Given the description of an element on the screen output the (x, y) to click on. 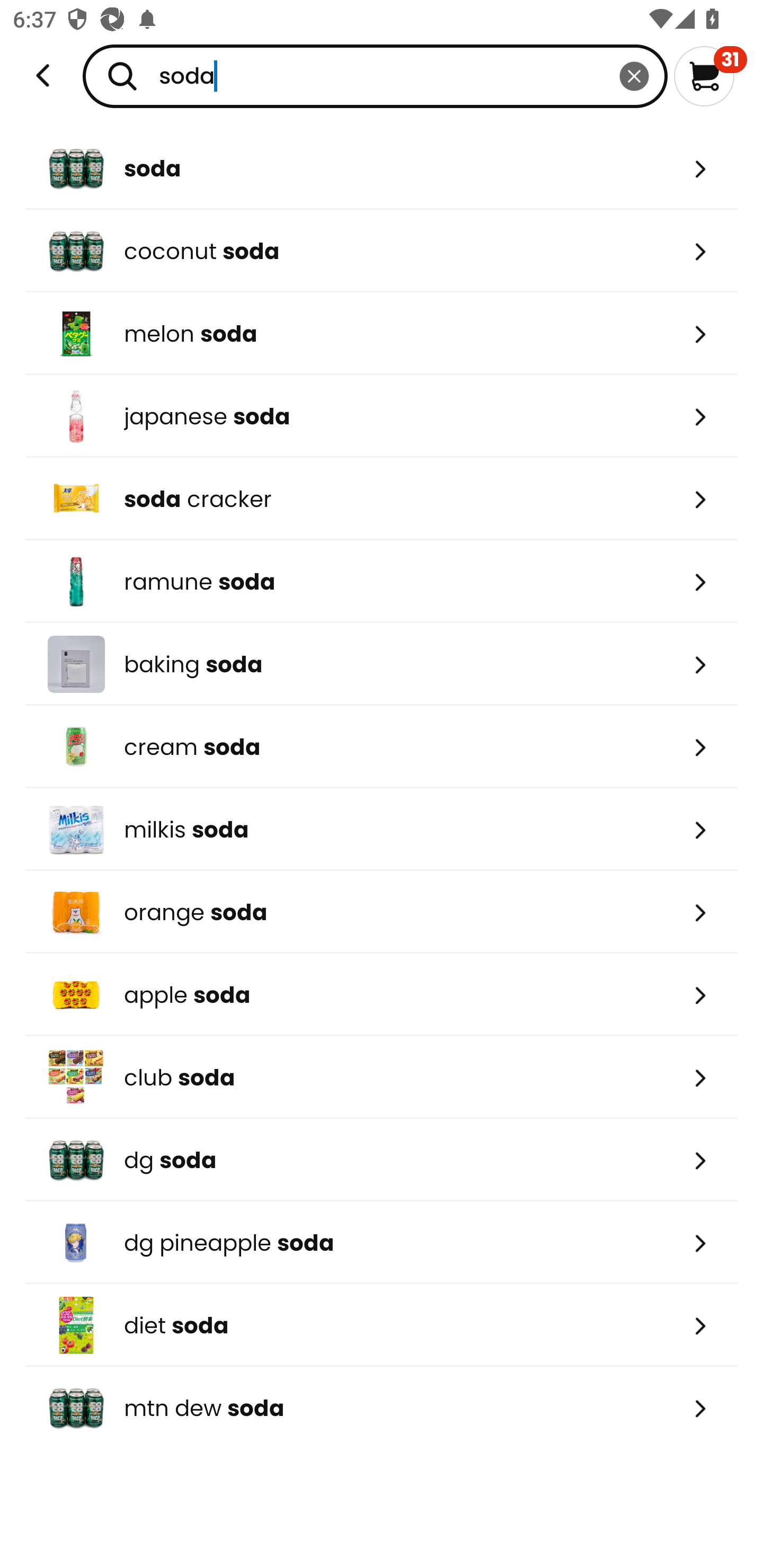
soda (374, 75)
31 (709, 75)
Weee! (42, 76)
soda (381, 168)
coconut soda (381, 250)
melon soda (381, 332)
japanese soda (381, 415)
soda cracker (381, 498)
ramune soda (381, 581)
baking soda (381, 663)
cream soda (381, 746)
milkis soda (381, 829)
orange soda (381, 911)
apple soda (381, 994)
club soda (381, 1077)
dg soda (381, 1160)
dg pineapple soda (381, 1242)
diet soda (381, 1325)
mtn dew soda (381, 1407)
